Given the description of an element on the screen output the (x, y) to click on. 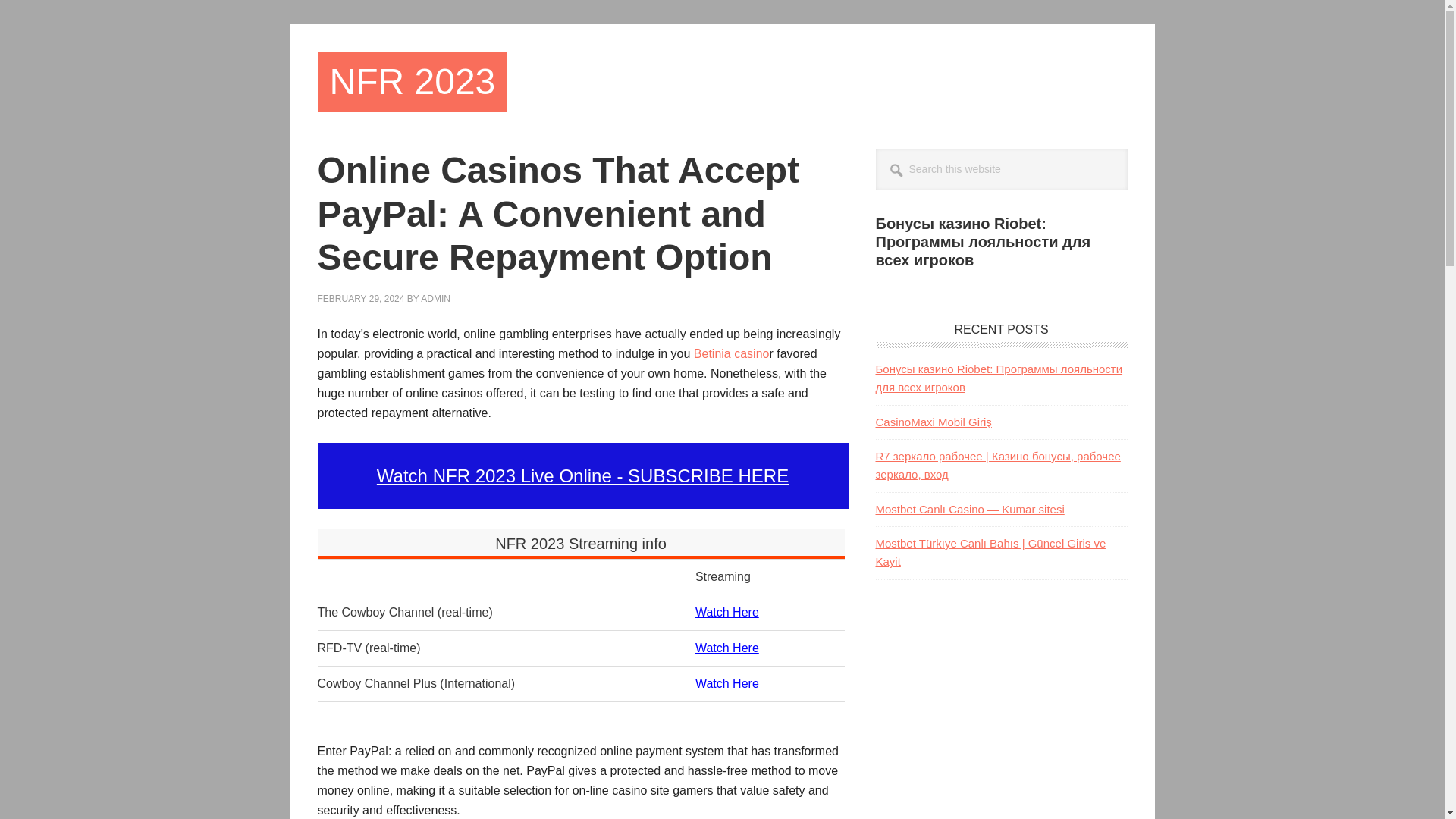
NFR 2023 (411, 81)
Watch Here (726, 647)
ADMIN (434, 298)
Betinia casino (732, 353)
Watch Here (726, 683)
Watch Here (726, 612)
Watch NFR 2023 Live Online - SUBSCRIBE HERE (583, 476)
